Given the description of an element on the screen output the (x, y) to click on. 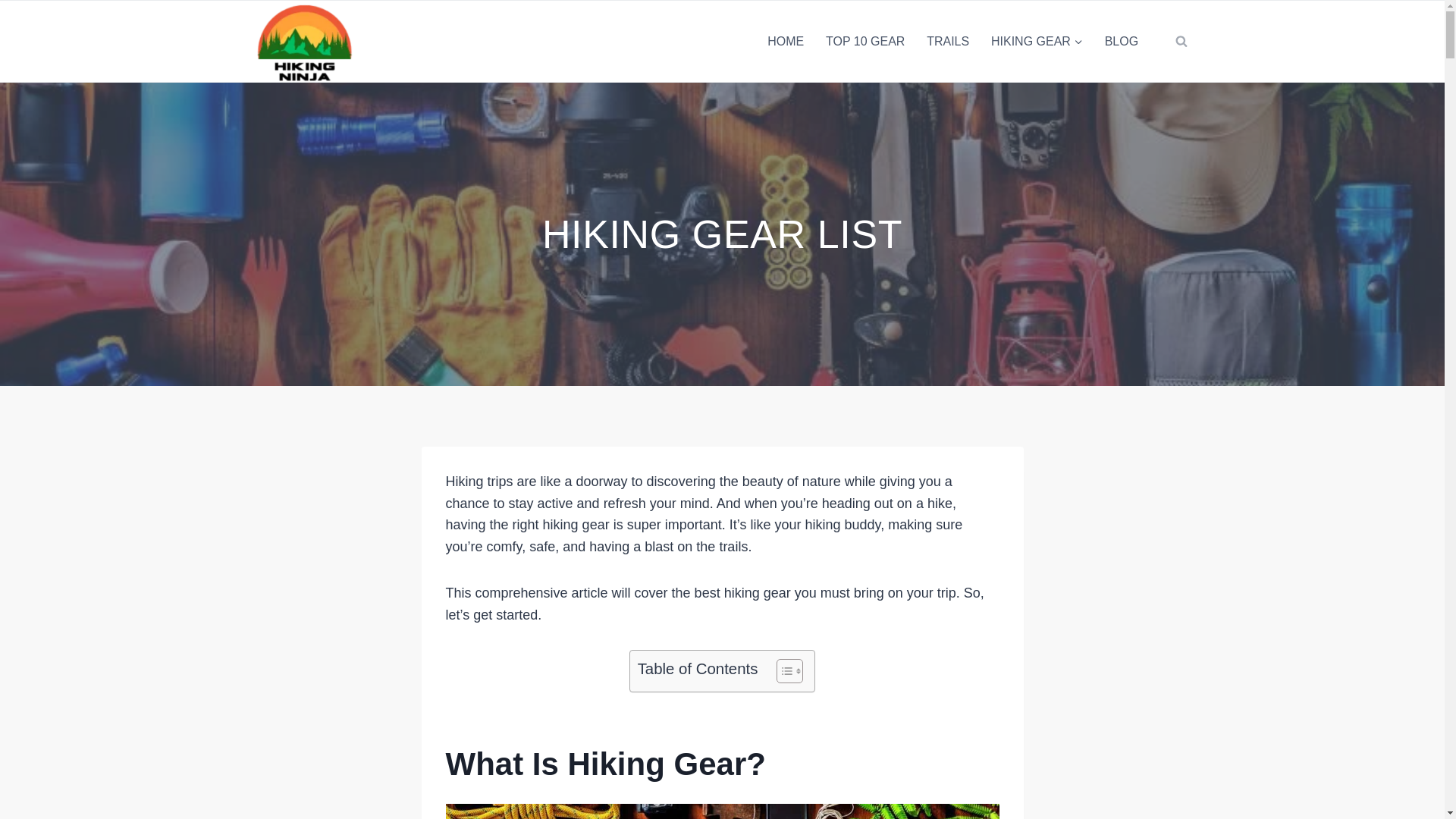
BLOG (1120, 41)
HOME (786, 41)
TOP 10 GEAR (865, 41)
TRAILS (947, 41)
HIKING GEAR (1036, 41)
